Given the description of an element on the screen output the (x, y) to click on. 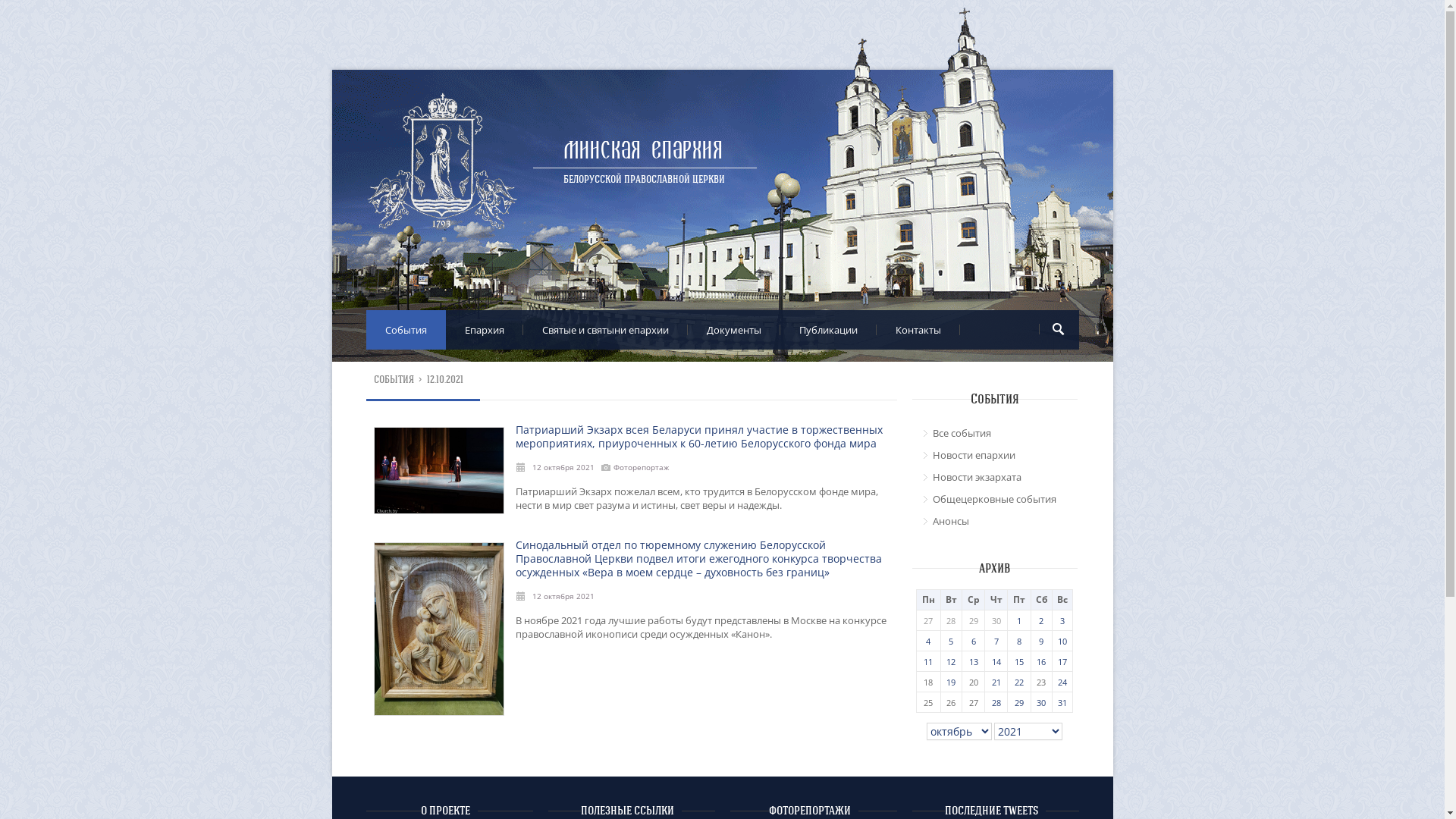
8 Element type: text (1018, 640)
19 Element type: text (950, 681)
30 Element type: text (1040, 701)
3 Element type: text (1062, 619)
29 Element type: text (1018, 701)
6 Element type: text (973, 640)
13 Element type: text (973, 660)
9 Element type: text (1040, 640)
12.10.2021 Element type: text (445, 379)
22 Element type: text (1018, 681)
7 Element type: text (996, 640)
17 Element type: text (1061, 660)
16 Element type: text (1040, 660)
2 Element type: text (1040, 619)
24 Element type: text (1061, 681)
12 Element type: text (950, 660)
21 Element type: text (996, 681)
11 Element type: text (927, 660)
31 Element type: text (1061, 701)
14 Element type: text (996, 660)
5 Element type: text (950, 640)
1 Element type: text (1018, 619)
15 Element type: text (1018, 660)
28 Element type: text (996, 701)
4 Element type: text (927, 640)
10 Element type: text (1061, 640)
